Given the description of an element on the screen output the (x, y) to click on. 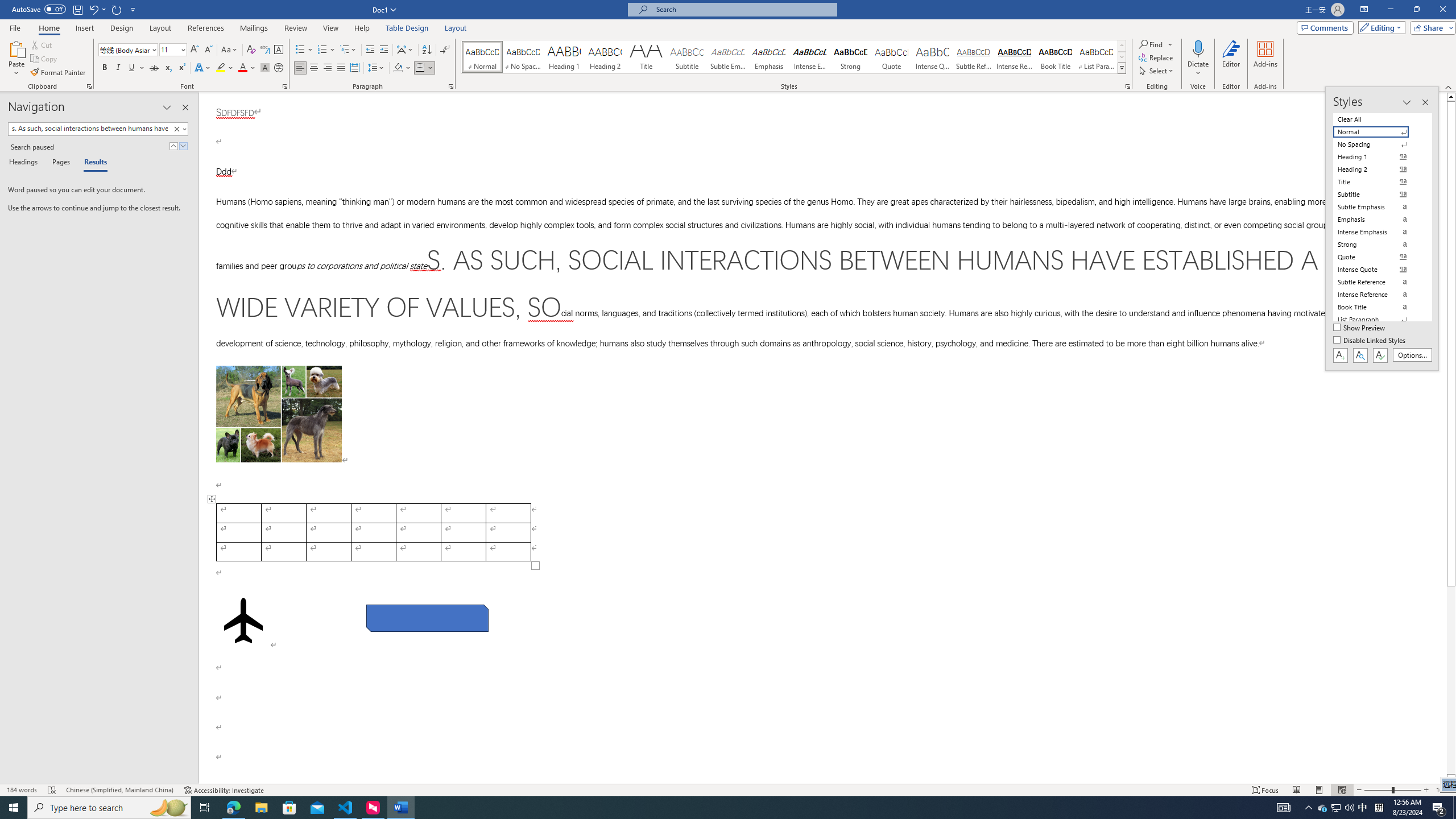
Quote (891, 56)
Clear All (1377, 119)
Line up (1450, 96)
Book Title (1055, 56)
